Given the description of an element on the screen output the (x, y) to click on. 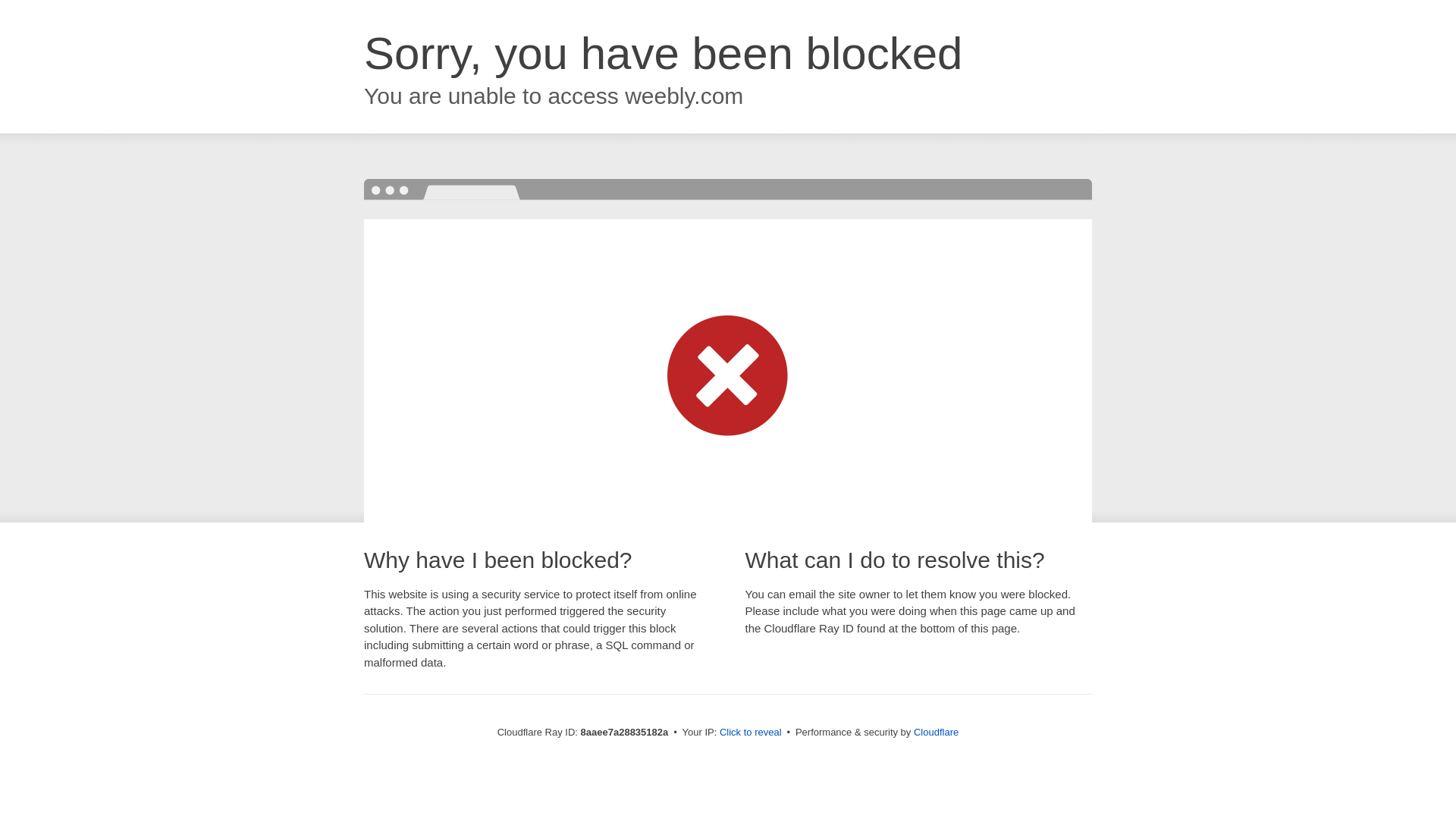
Click to reveal (750, 732)
Cloudflare (936, 731)
